Given the description of an element on the screen output the (x, y) to click on. 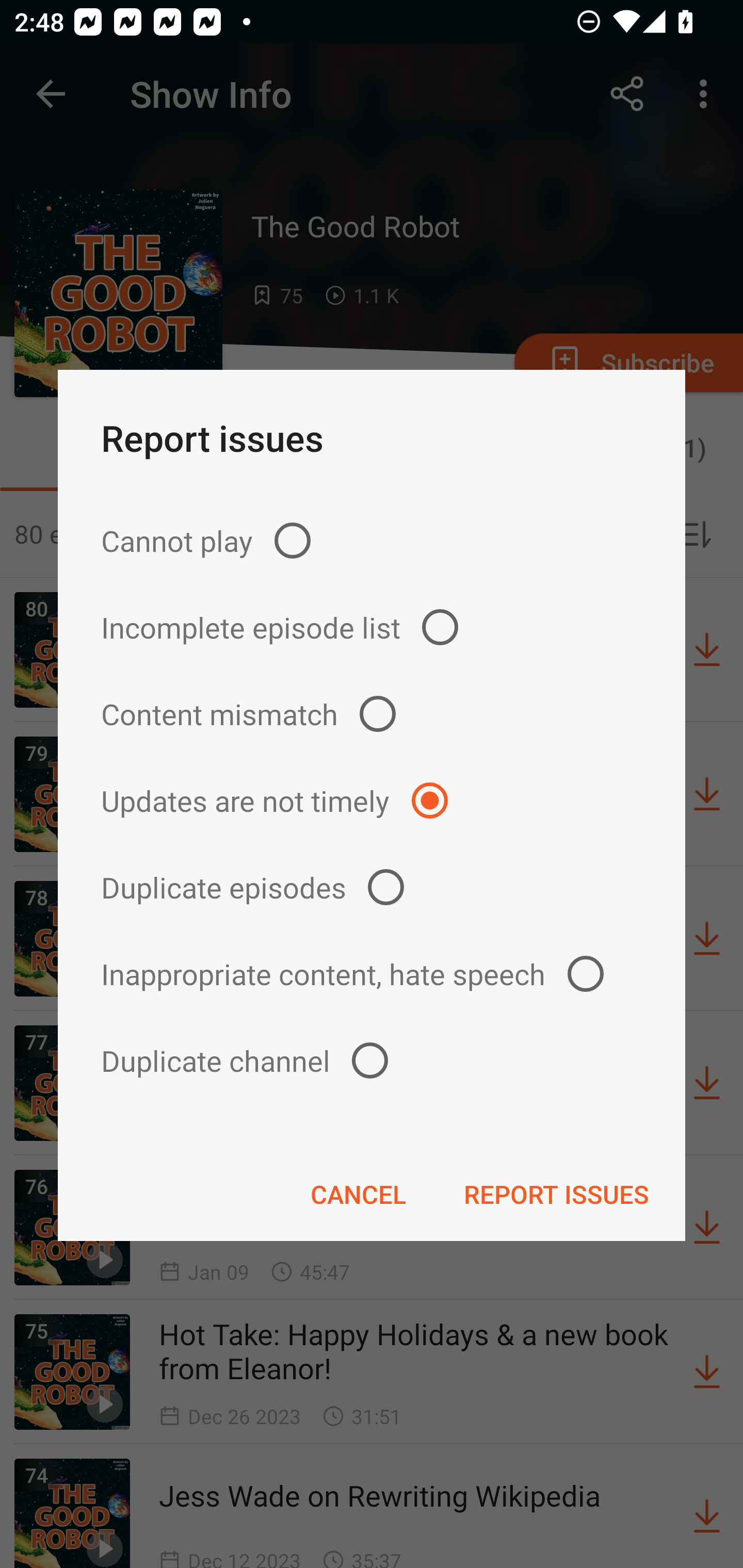
Cannot play (371, 540)
Incomplete episode list (371, 627)
Content mismatch (371, 714)
Updates are not timely (371, 800)
Duplicate episodes (371, 886)
Inappropriate content, hate speech (371, 973)
Duplicate channel (371, 1060)
CANCEL (357, 1193)
REPORT ISSUES (555, 1193)
